Given the description of an element on the screen output the (x, y) to click on. 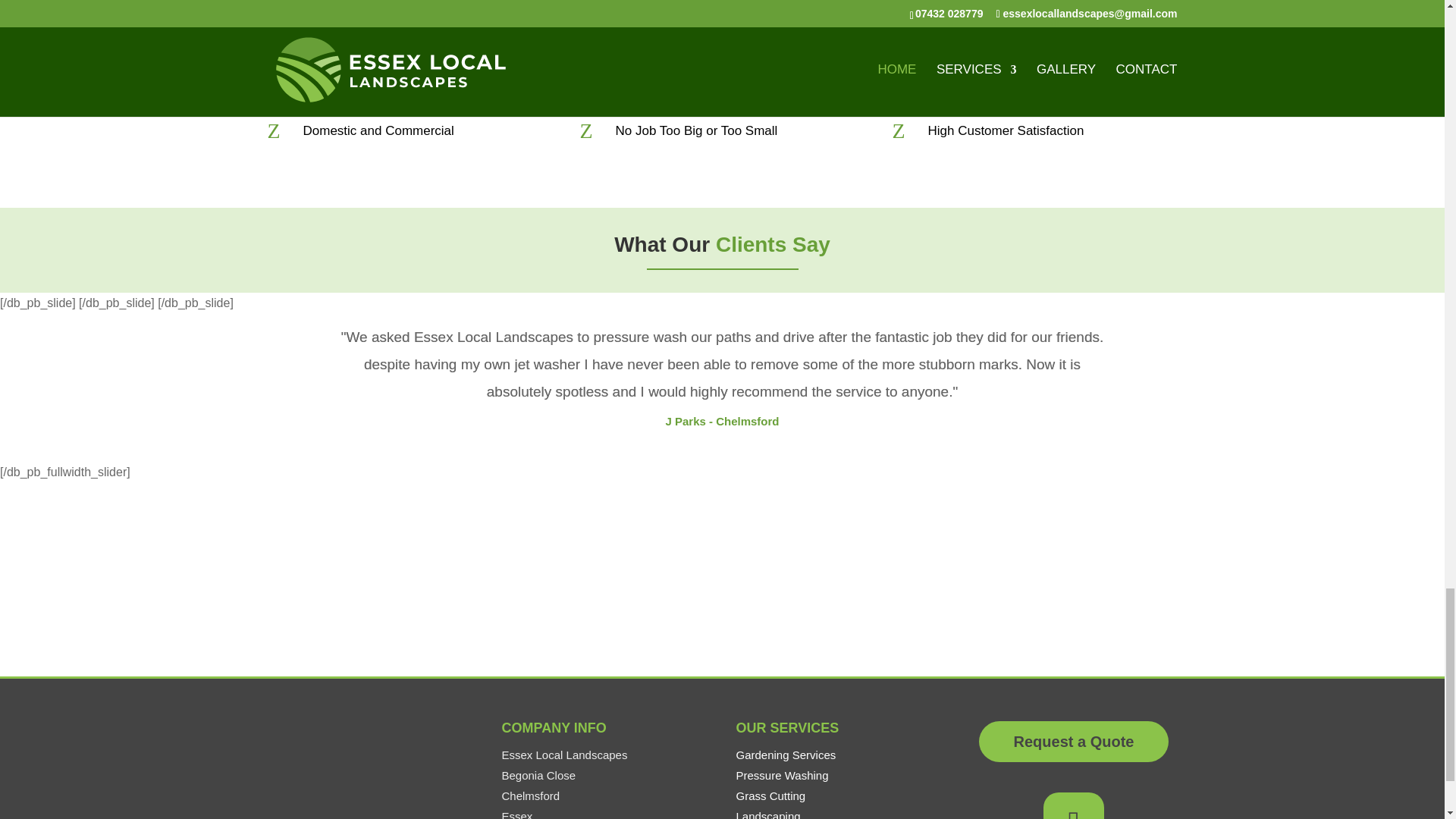
Pressure Washing Essex (781, 775)
Grass Cutting Essex (770, 795)
Grass Cutting (770, 795)
Gardening Services (785, 754)
Landscaping (767, 814)
Landscaping Essex (767, 814)
Gardening Services Essex (785, 754)
Pressure Washing (781, 775)
